Given the description of an element on the screen output the (x, y) to click on. 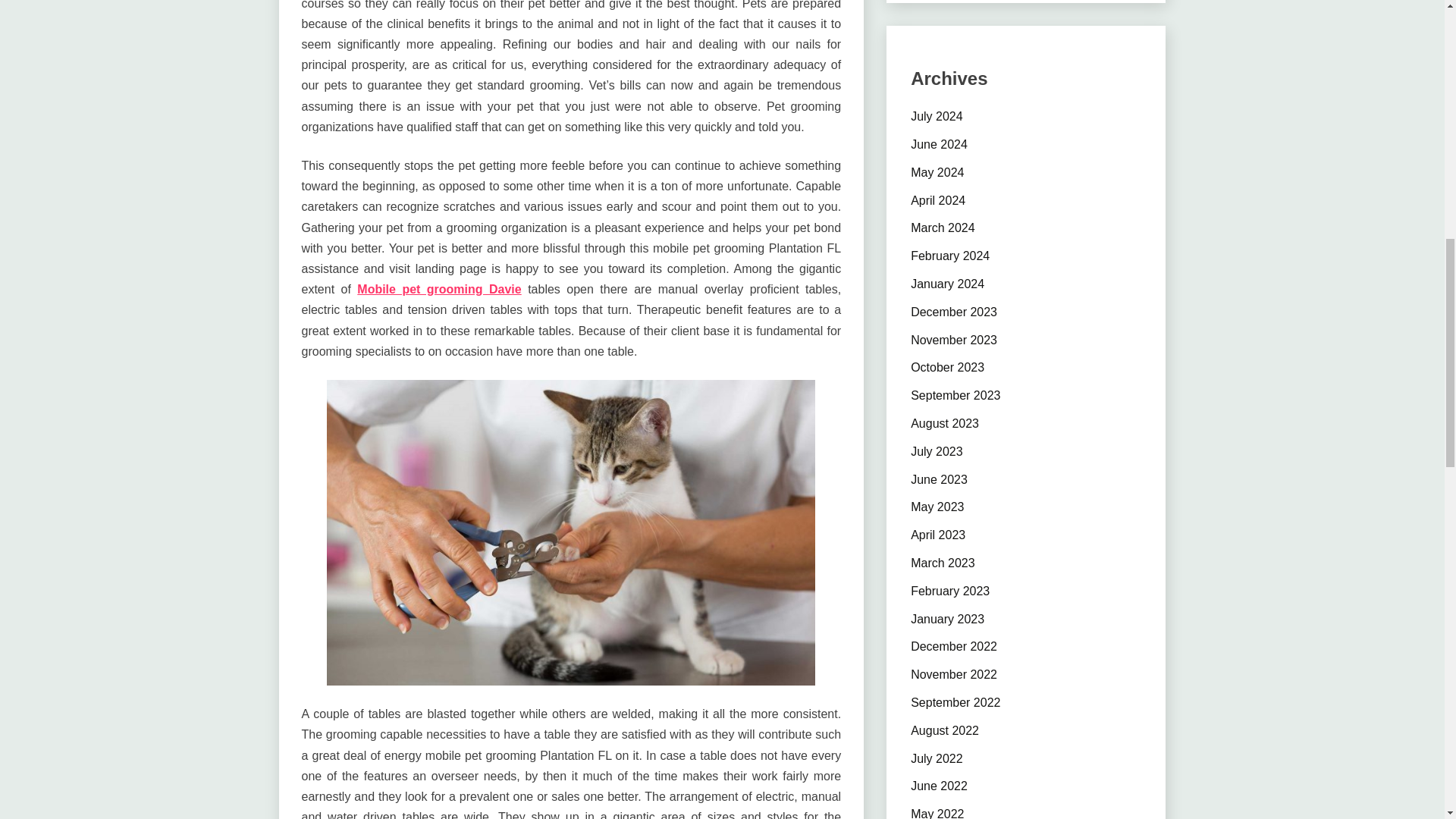
June 2024 (939, 144)
May 2024 (937, 172)
July 2024 (936, 115)
April 2024 (938, 200)
March 2024 (943, 227)
Mobile pet grooming Davie (438, 288)
